Given the description of an element on the screen output the (x, y) to click on. 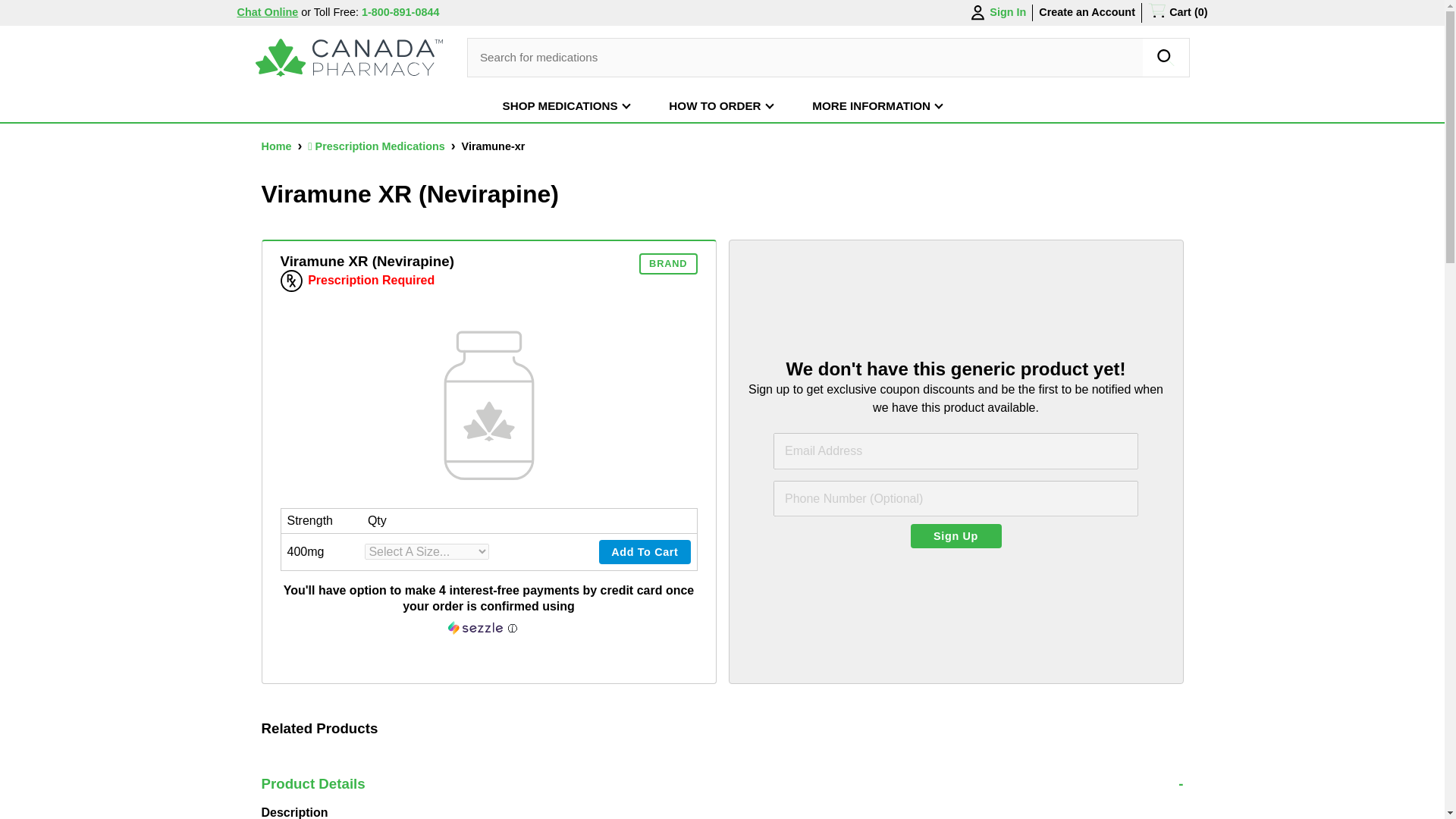
Sign In (997, 12)
Toll Free: 1-800-891-0844 (376, 11)
Sign Up (955, 535)
Home (277, 146)
Create an Account (1087, 11)
Add To Cart (644, 551)
Add To Cart (644, 551)
